Given the description of an element on the screen output the (x, y) to click on. 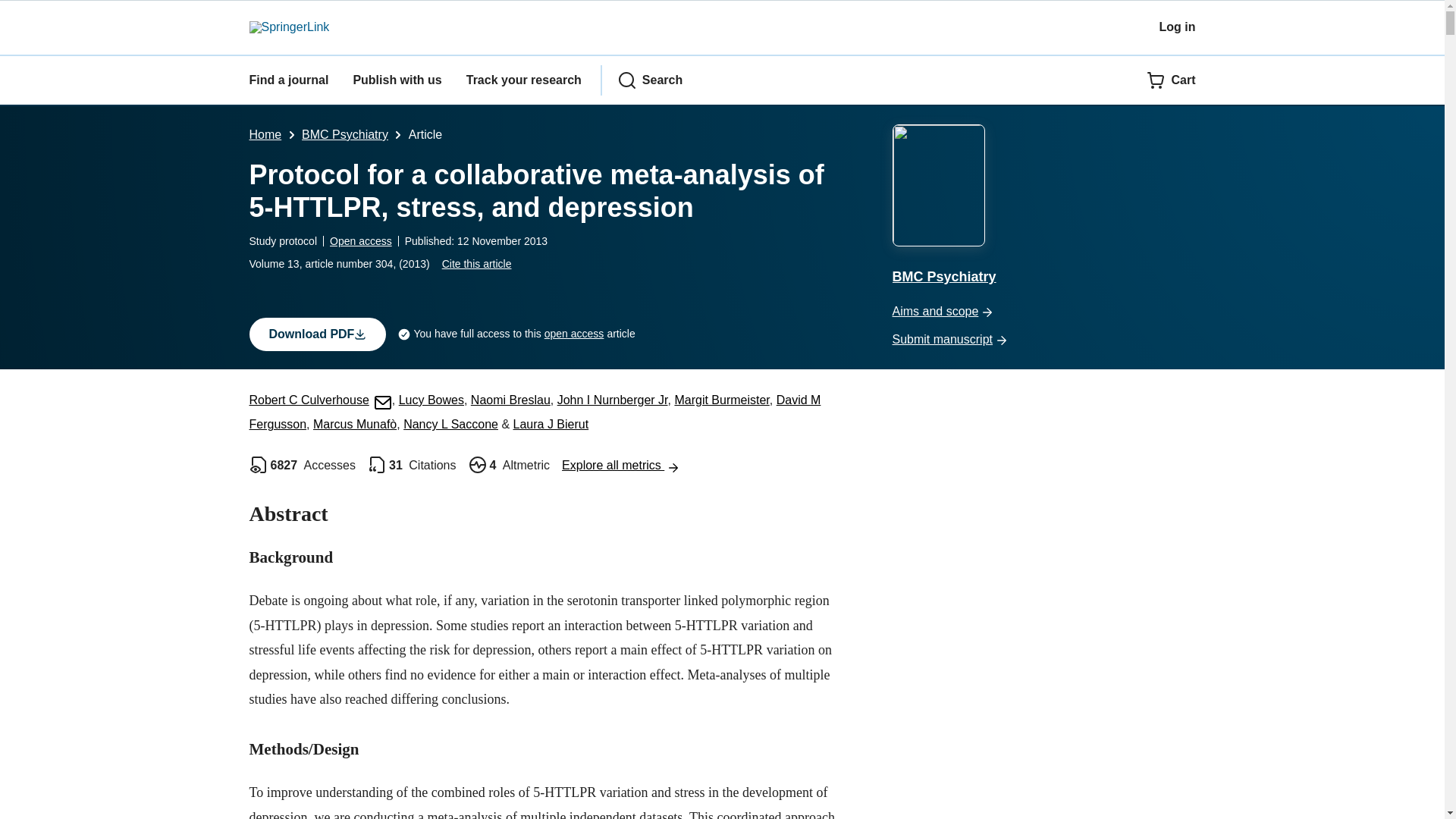
Download PDF (316, 334)
Search (649, 79)
Submit manuscript (1043, 340)
Margit Burmeister (721, 399)
Cite this article (477, 263)
Lucy Bowes (431, 399)
John I Nurnberger Jr (612, 399)
Home (264, 133)
BMC Psychiatry (344, 133)
David M Fergusson (534, 411)
Cart (1170, 79)
Track your research (524, 79)
Laura J Bierut (551, 423)
Open access (360, 241)
BMC Psychiatry (1043, 206)
